Given the description of an element on the screen output the (x, y) to click on. 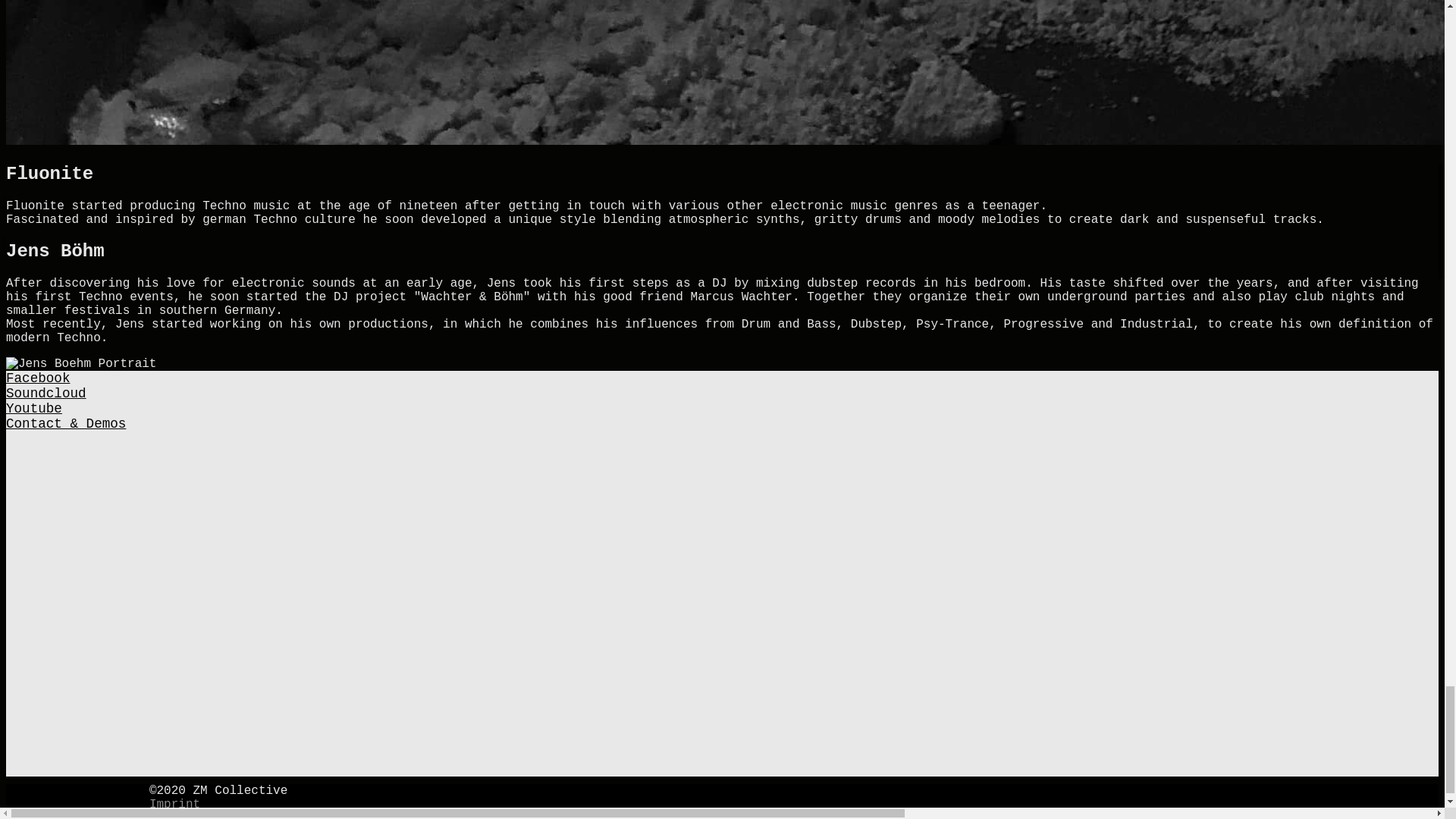
Facebook (37, 378)
Soundcloud (45, 393)
Imprint (174, 804)
Youtube (33, 408)
